Given the description of an element on the screen output the (x, y) to click on. 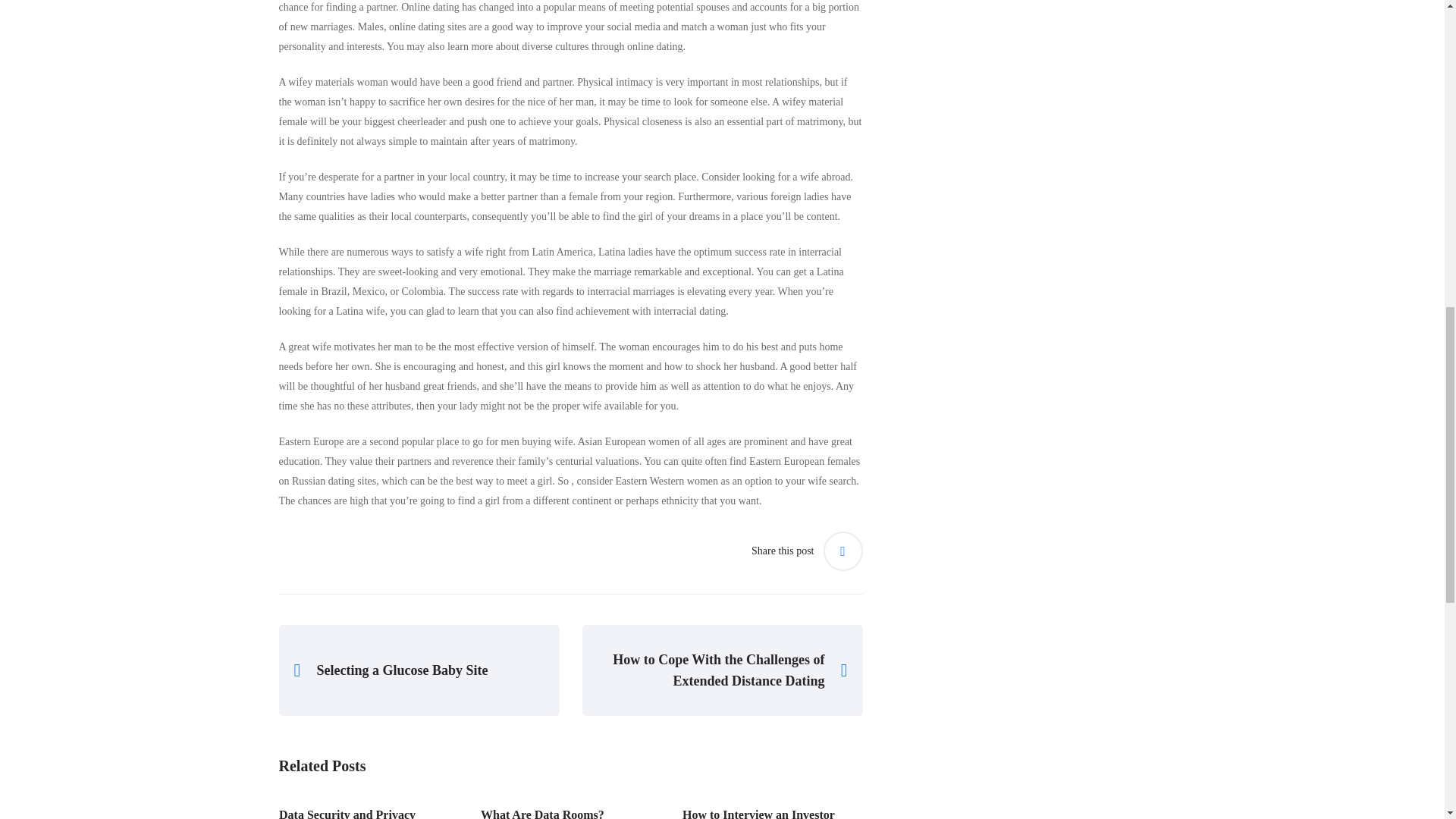
What Are Data Rooms? (569, 811)
How to Cope With the Challenges of Extended Distance Dating (722, 669)
How to Interview an Investor (771, 811)
Selecting a Glucose Baby Site (419, 669)
